Given the description of an element on the screen output the (x, y) to click on. 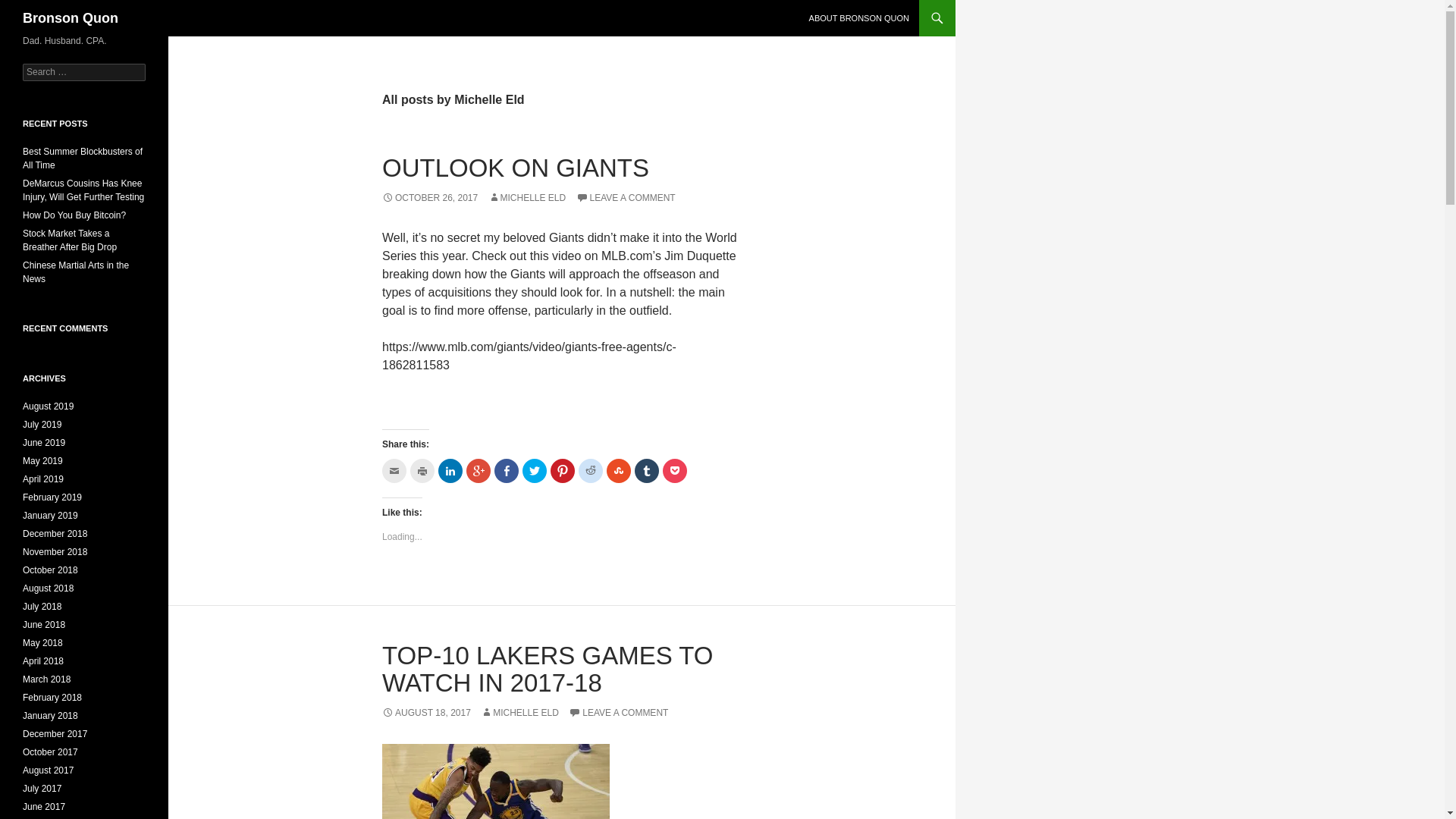
OUTLOOK ON GIANTS (515, 167)
Share on Facebook (506, 470)
MICHELLE ELD (519, 712)
Click to share on Pinterest (562, 470)
OCTOBER 26, 2017 (429, 197)
Click to share on Reddit (590, 470)
Click to email this to a friend (393, 470)
Comment on Outlook on Giants (625, 197)
Click to share on Tumblr (646, 470)
AUGUST 18, 2017 (425, 712)
